Given the description of an element on the screen output the (x, y) to click on. 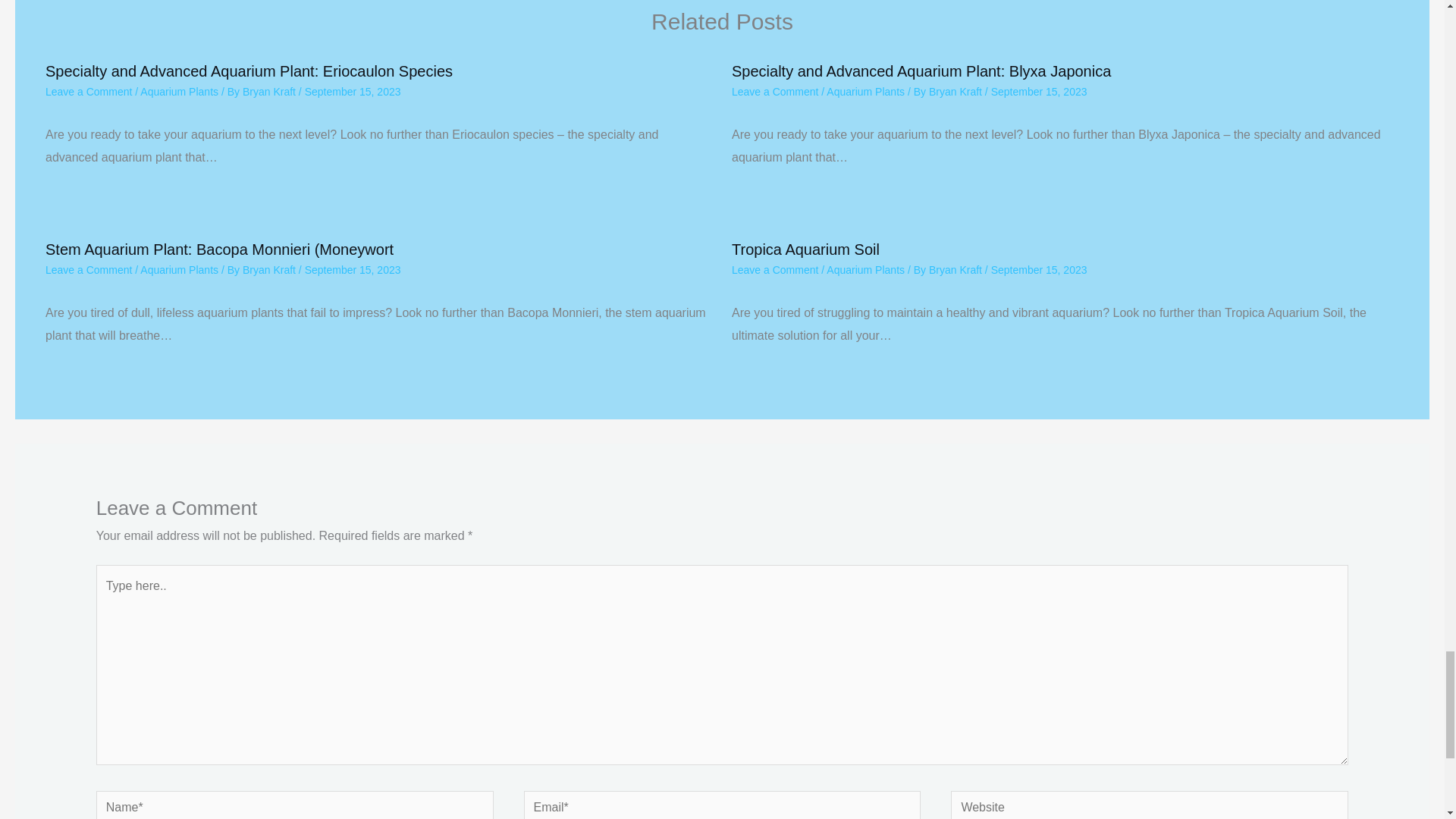
Leave a Comment (88, 269)
Aquarium Plants (865, 91)
Aquarium Plants (178, 269)
Leave a Comment (88, 91)
Aquarium Plants (178, 91)
Specialty and Advanced Aquarium Plant: Eriocaulon Species (248, 71)
View all posts by Bryan Kraft (270, 91)
Bryan Kraft (270, 91)
Bryan Kraft (956, 91)
Specialty and Advanced Aquarium Plant: Blyxa Japonica (921, 71)
Leave a Comment (775, 91)
